Given the description of an element on the screen output the (x, y) to click on. 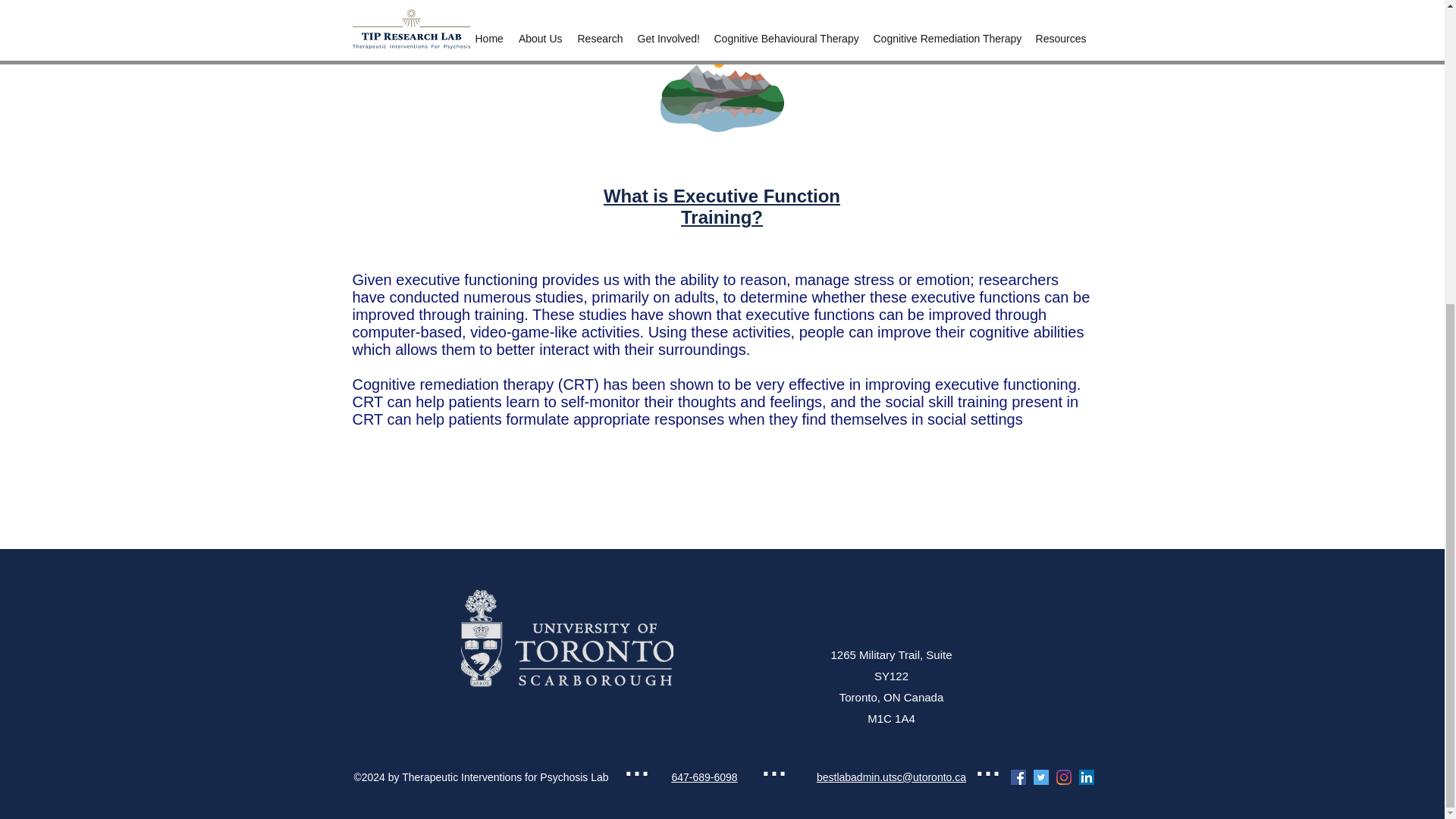
647-689-6098 (703, 776)
